Given the description of an element on the screen output the (x, y) to click on. 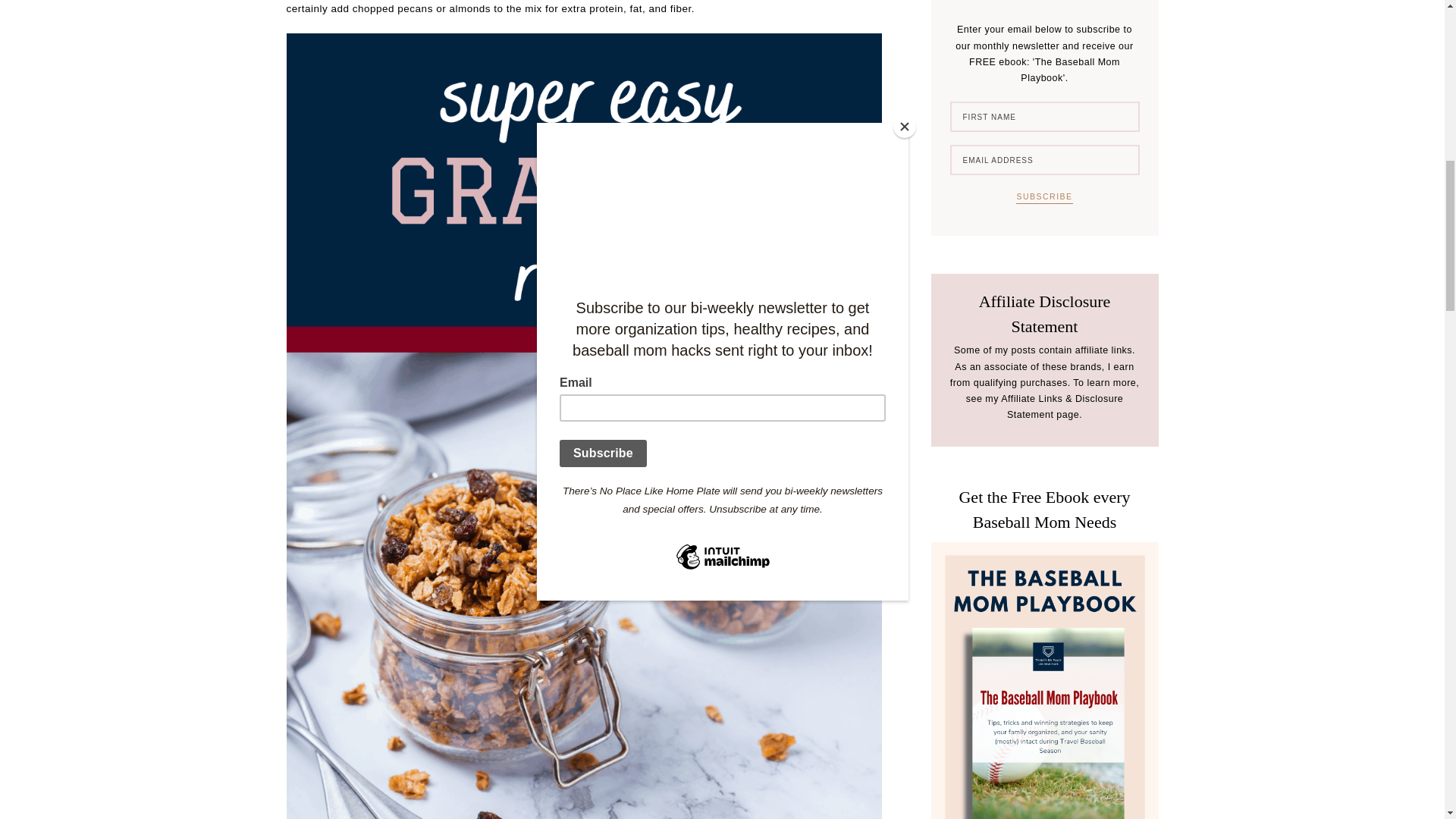
Subscribe (1043, 197)
